Given the description of an element on the screen output the (x, y) to click on. 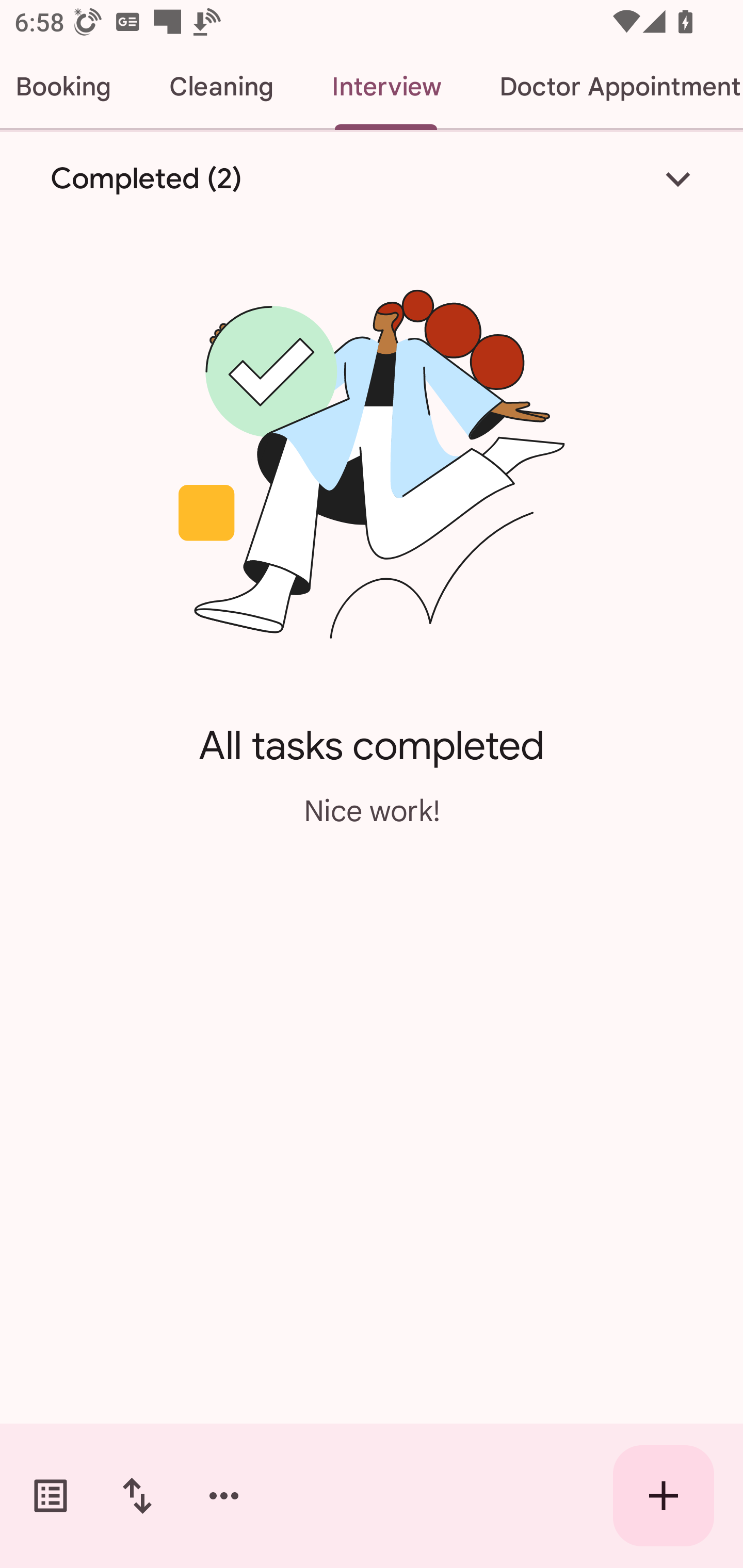
Hotel Booking (69, 86)
Cleaning (220, 86)
Doctor Appointment (606, 86)
Completed (2) (371, 178)
Switch task lists (50, 1495)
Create new task (663, 1495)
Change sort order (136, 1495)
More options (223, 1495)
